Given the description of an element on the screen output the (x, y) to click on. 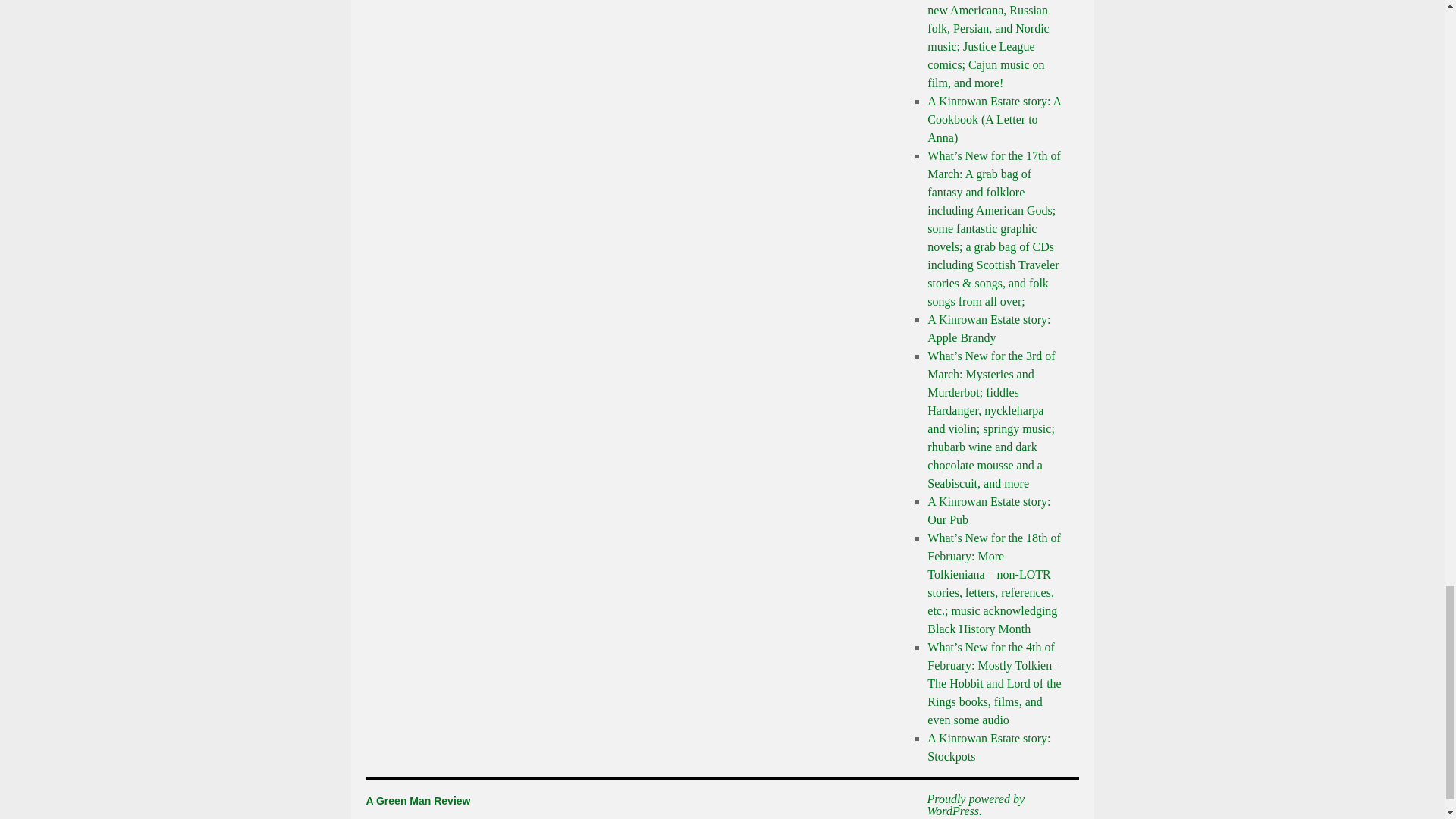
A Kinrowan Estate story: Our Pub (988, 510)
A Kinrowan Estate story: Apple Brandy (988, 327)
Semantic Personal Publishing Platform (994, 805)
A Kinrowan Estate story: Stockpots (988, 747)
